Given the description of an element on the screen output the (x, y) to click on. 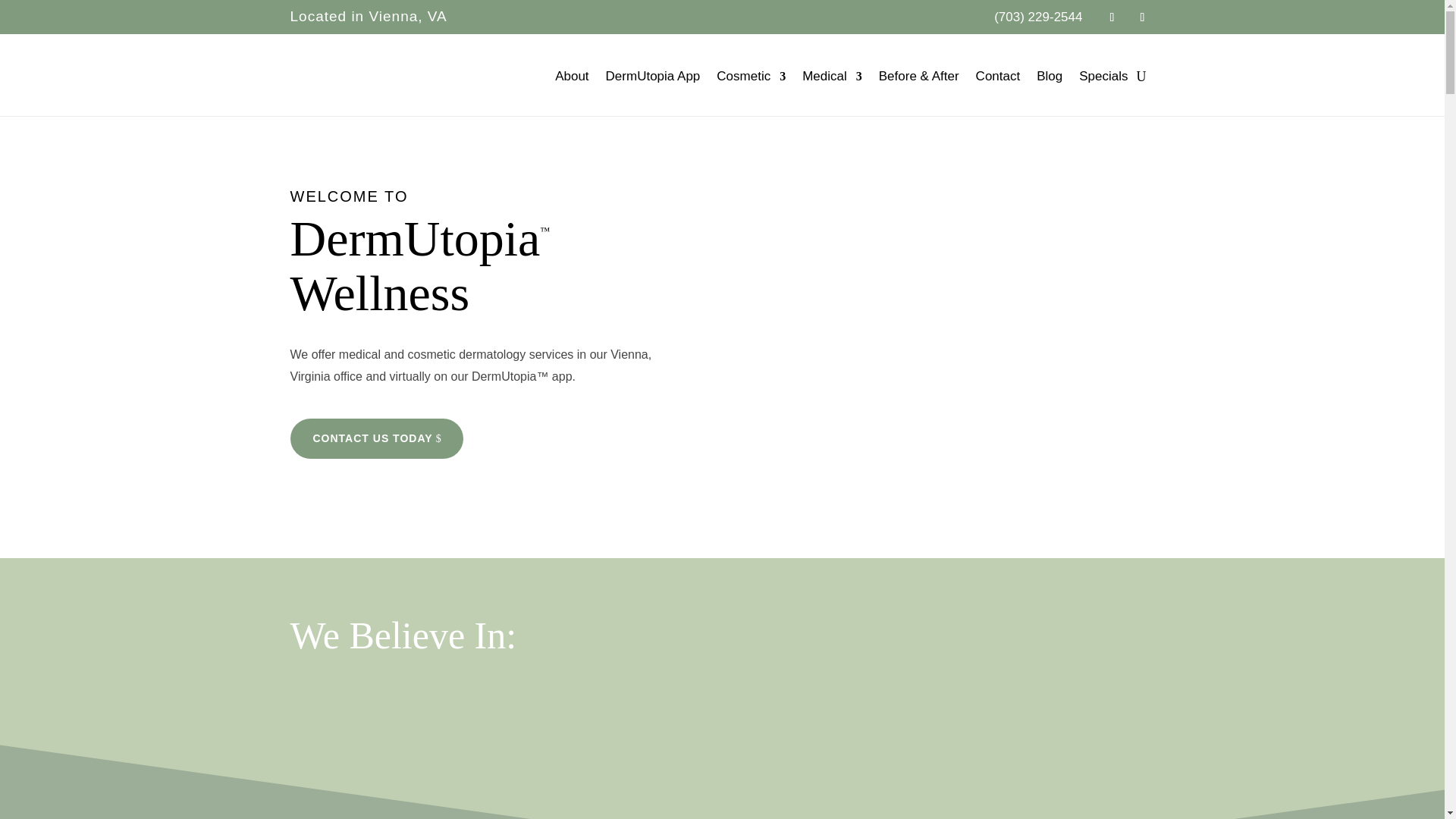
Medical (831, 76)
Cosmetic (751, 76)
medical (359, 354)
Located in Vienna, VA (367, 16)
DermUtopia Cosmetic Dermatology Services (466, 354)
DermUtopia Medical Dermatology Services (359, 354)
Follow on Facebook (1111, 16)
DermUtopia App - Online Dermatology (481, 376)
CONTACT US TODAY (376, 438)
Follow on Instagram (1141, 16)
